Given the description of an element on the screen output the (x, y) to click on. 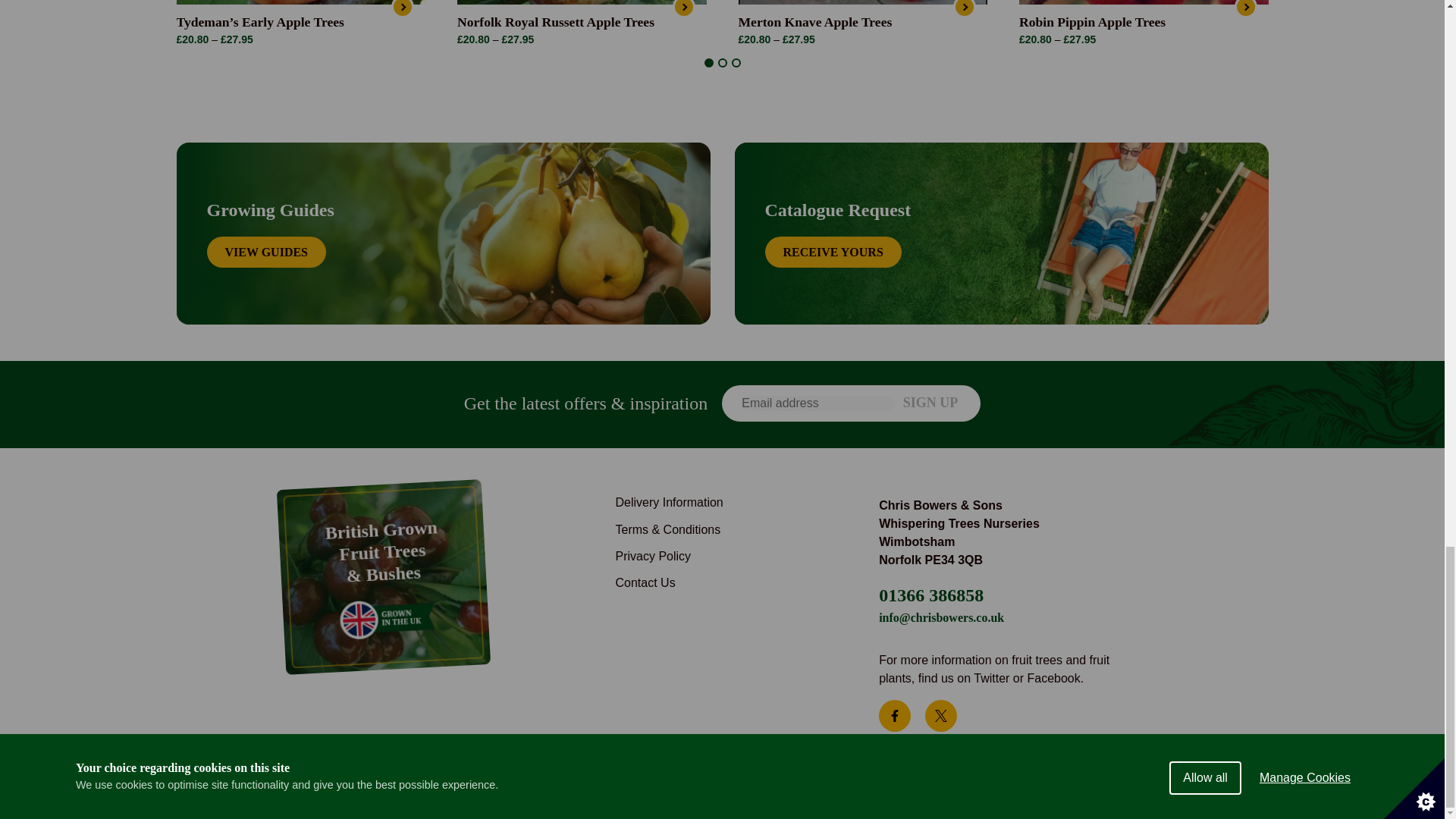
grown-in-the-uk-badge (384, 616)
